Given the description of an element on the screen output the (x, y) to click on. 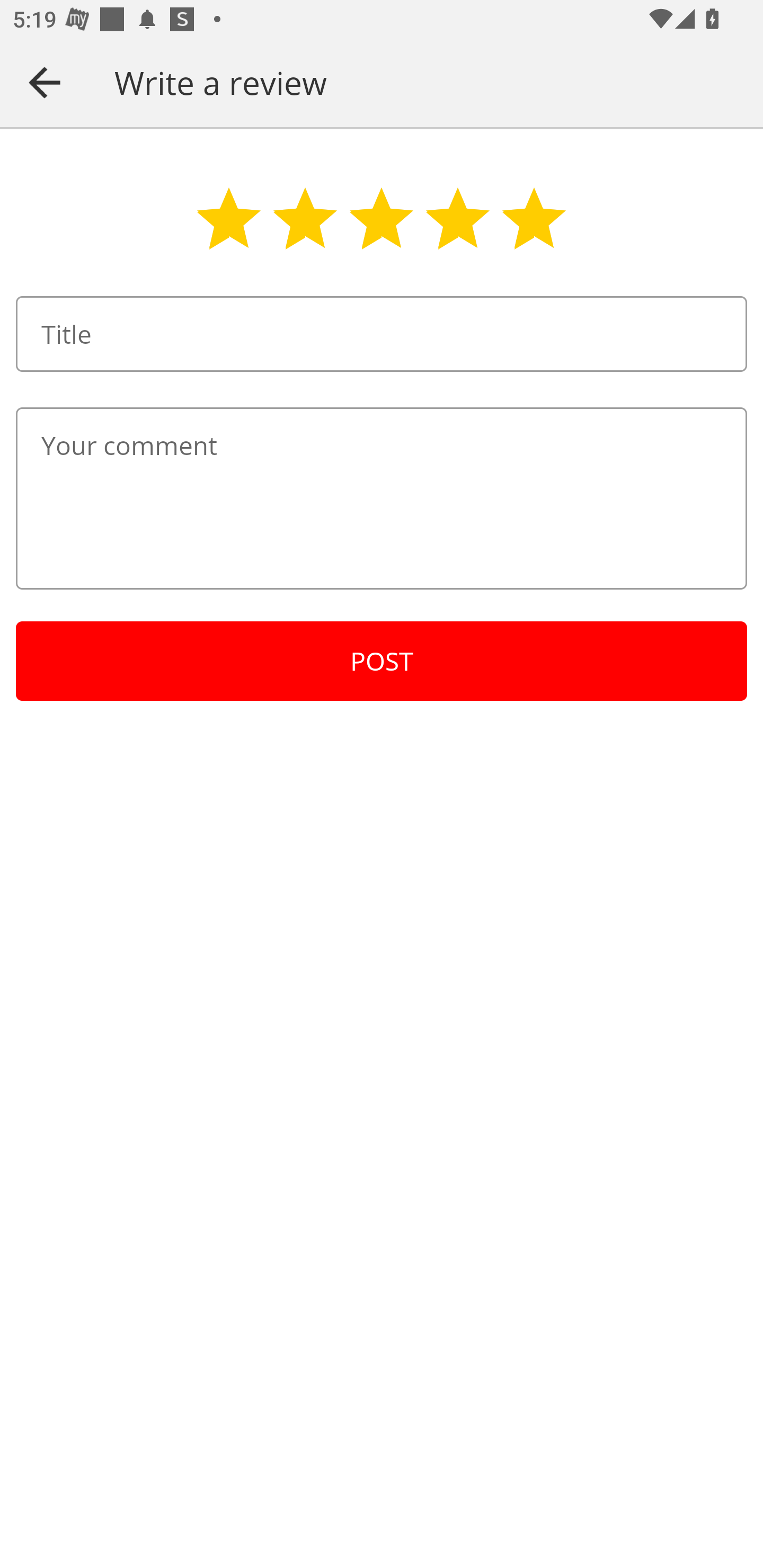
Navigate up (44, 82)
Title (381, 333)
Your comment (381, 498)
POST (381, 660)
